Given the description of an element on the screen output the (x, y) to click on. 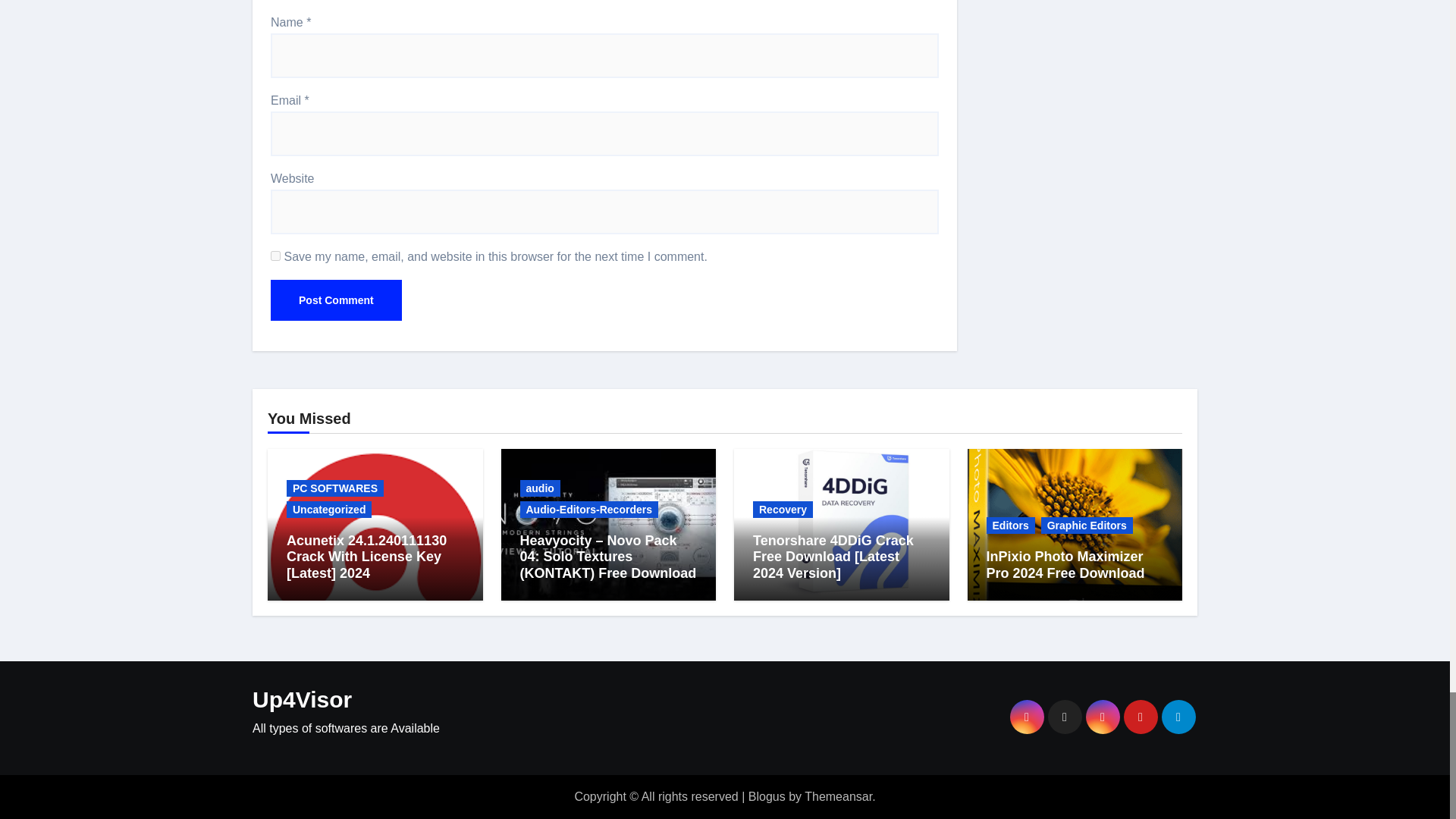
Post Comment (335, 300)
yes (275, 255)
Permalink to: InPixio Photo Maximizer Pro 2024 Free Download (1064, 564)
